Given the description of an element on the screen output the (x, y) to click on. 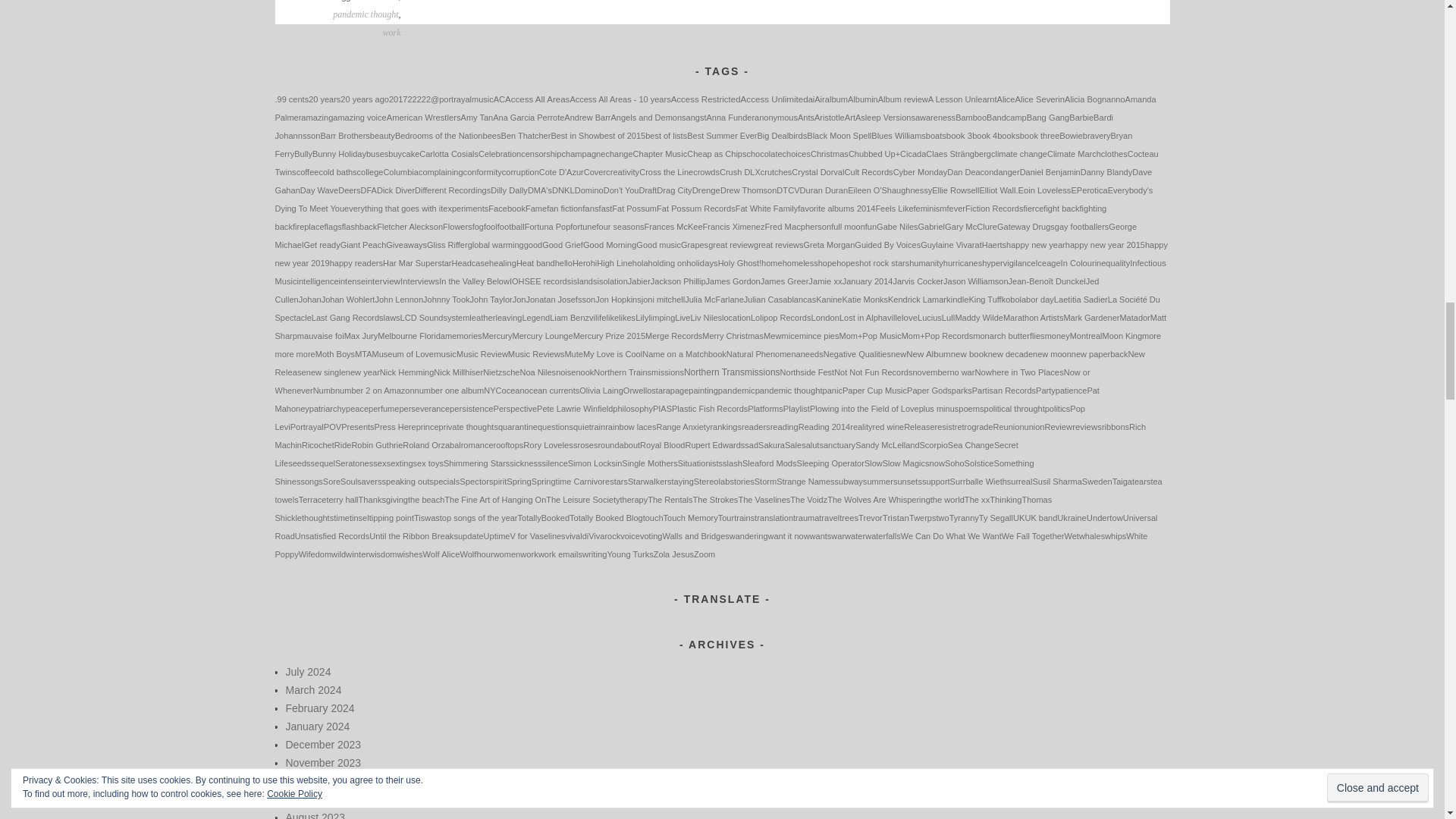
Access All Areas - 10 years (619, 99)
2017 (397, 99)
22222 (418, 99)
Access Restricted (706, 99)
Access Unlimited (774, 99)
work (390, 32)
Access All Areas (537, 99)
homeless (381, 0)
20 years ago (364, 99)
.99 cents (291, 99)
